Given the description of an element on the screen output the (x, y) to click on. 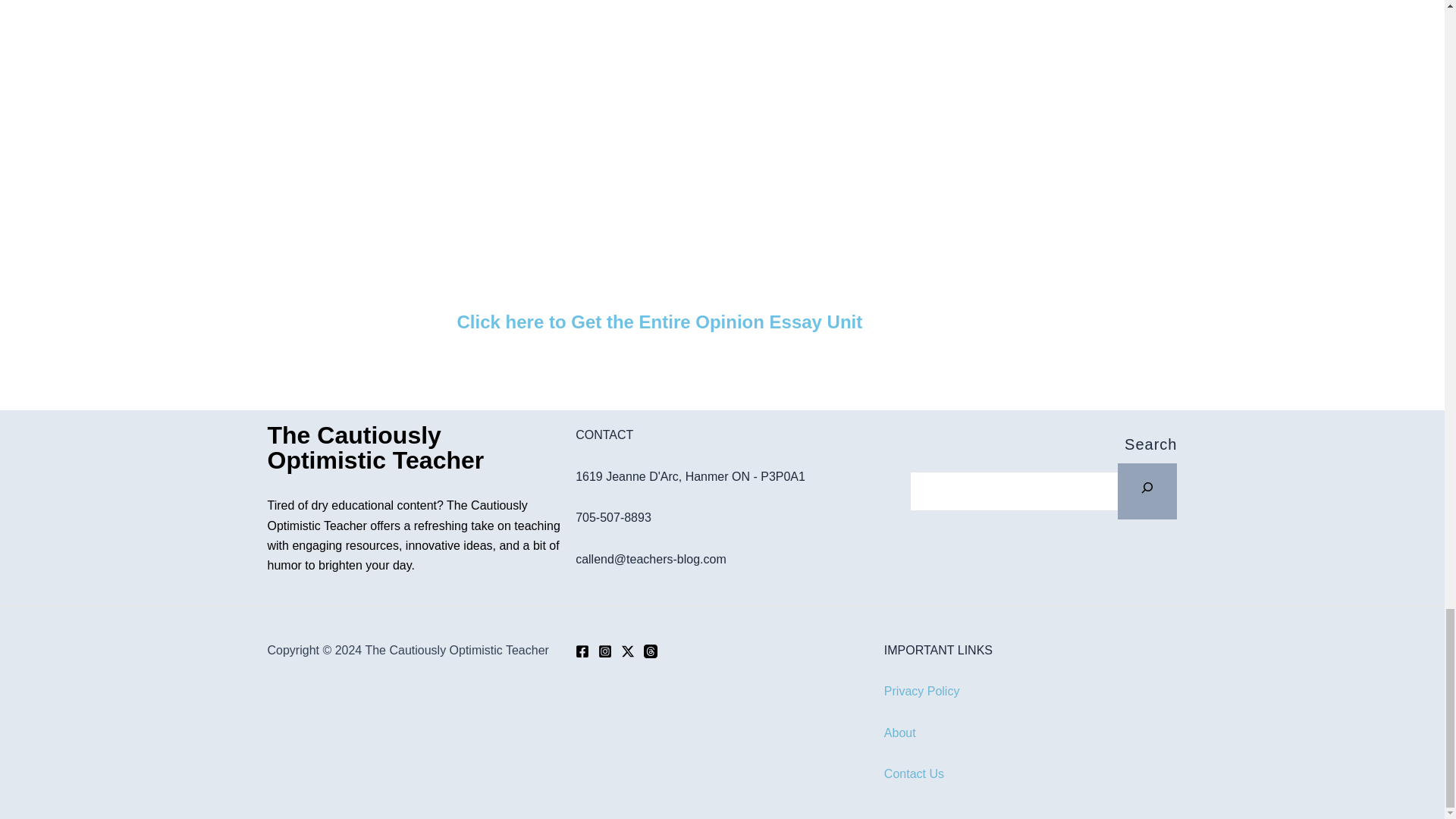
Click here to Get the Entire Opinion Essay Unit (659, 322)
Contact Us (913, 773)
About (899, 732)
Privacy Policy (921, 690)
